Given the description of an element on the screen output the (x, y) to click on. 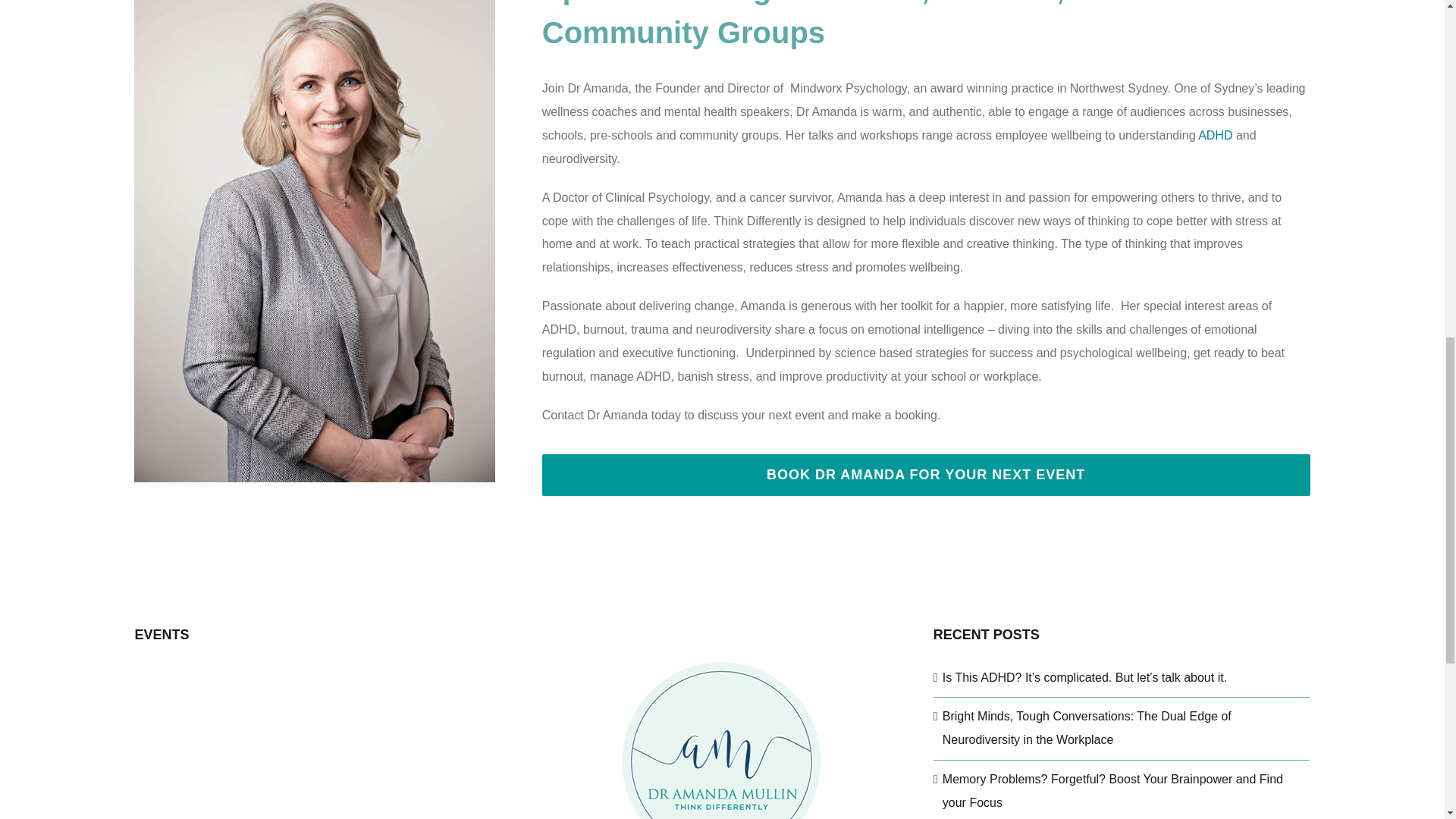
BOOK DR AMANDA FOR YOUR NEXT EVENT (925, 474)
ADHD (1217, 134)
